Given the description of an element on the screen output the (x, y) to click on. 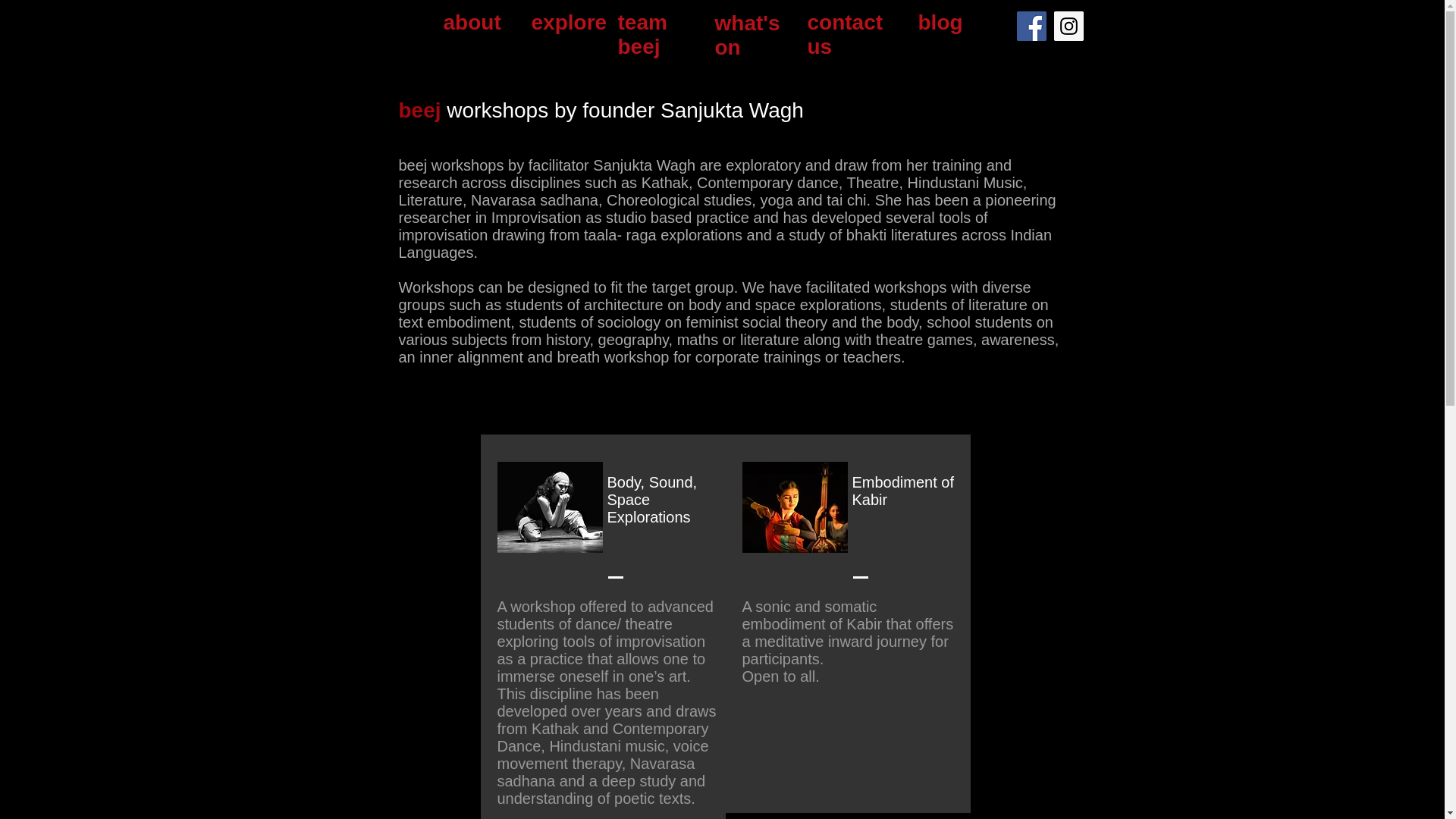
blog  (942, 22)
about (471, 22)
contact us (844, 34)
what's on (746, 34)
explore (569, 22)
team beej (641, 34)
